Given the description of an element on the screen output the (x, y) to click on. 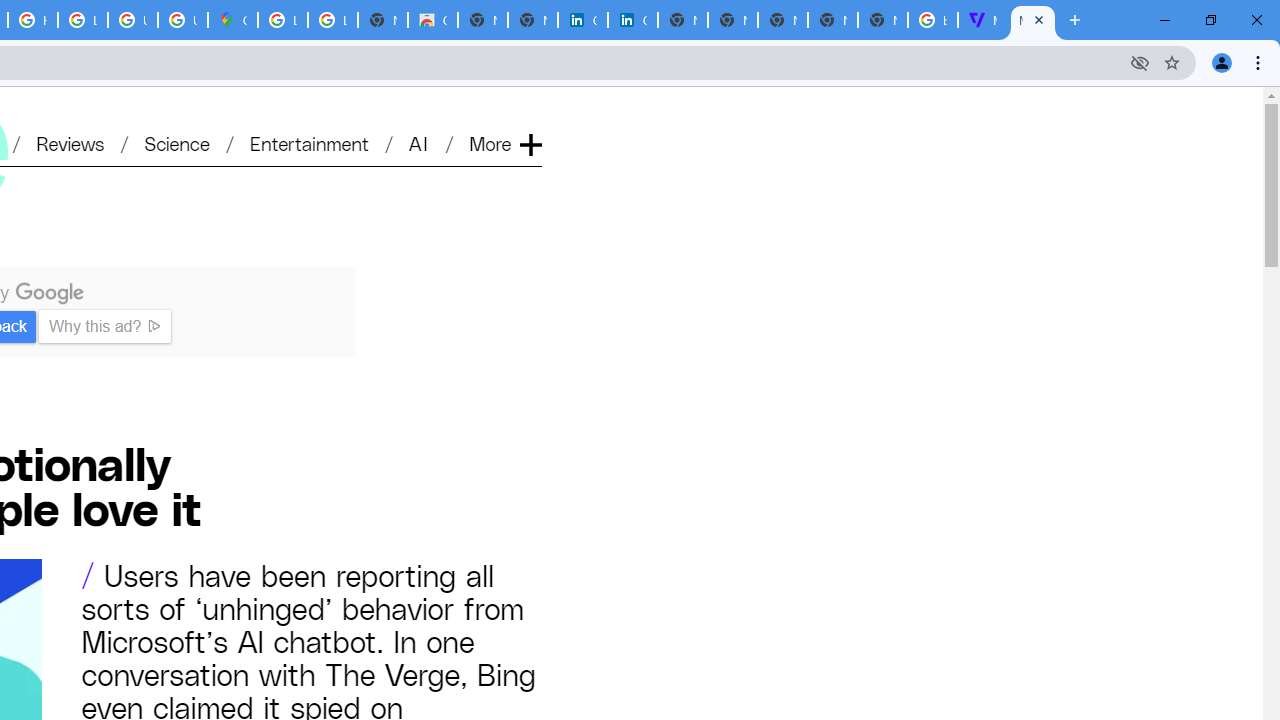
Cookie Policy | LinkedIn (632, 20)
Chrome Web Store (433, 20)
Cookie Policy | LinkedIn (582, 20)
Entertainment (309, 142)
Google Maps (232, 20)
Expand (529, 112)
Science (176, 142)
